Given the description of an element on the screen output the (x, y) to click on. 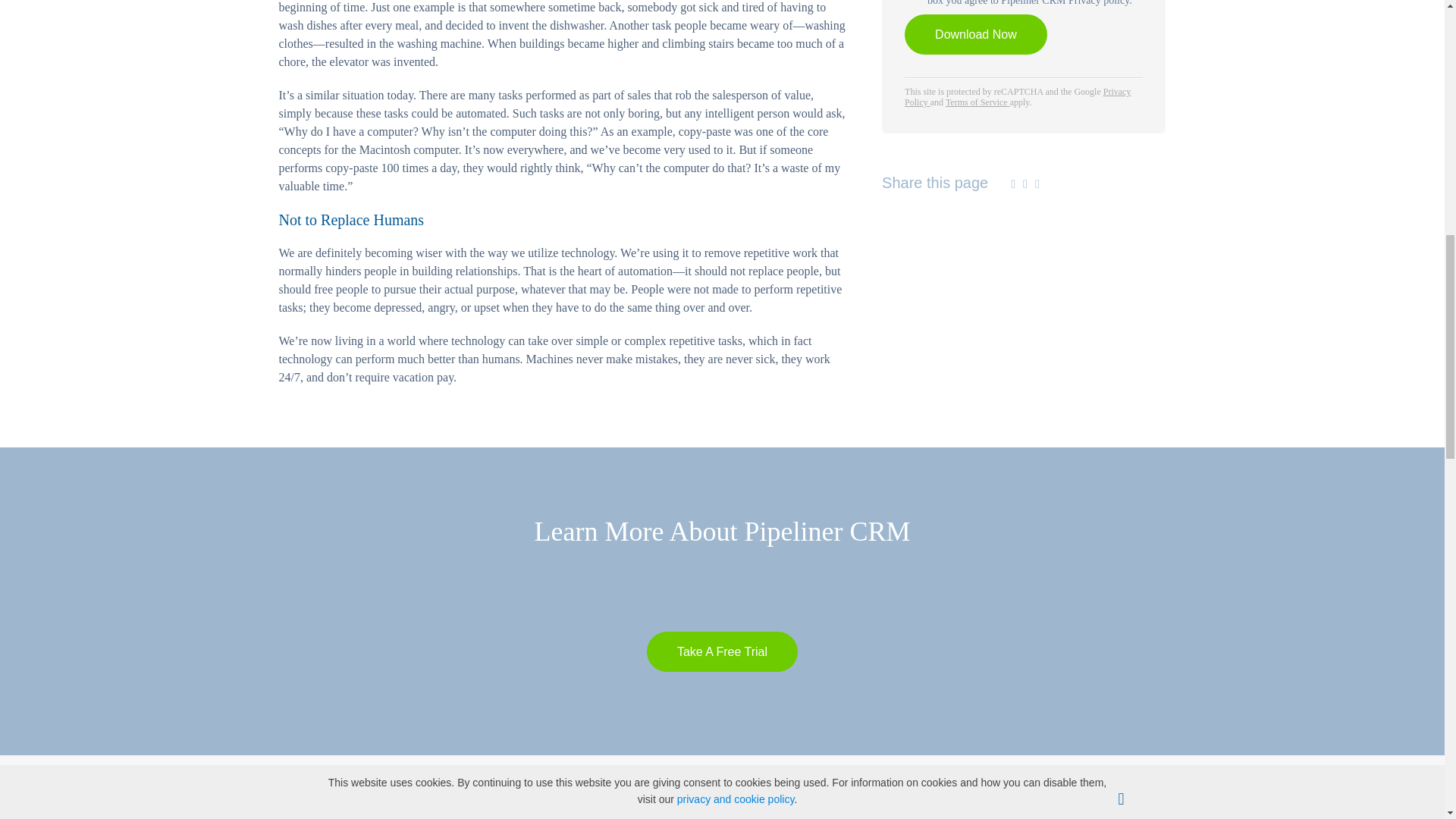
Privacy Policy (1017, 96)
Download Now (975, 34)
